Given the description of an element on the screen output the (x, y) to click on. 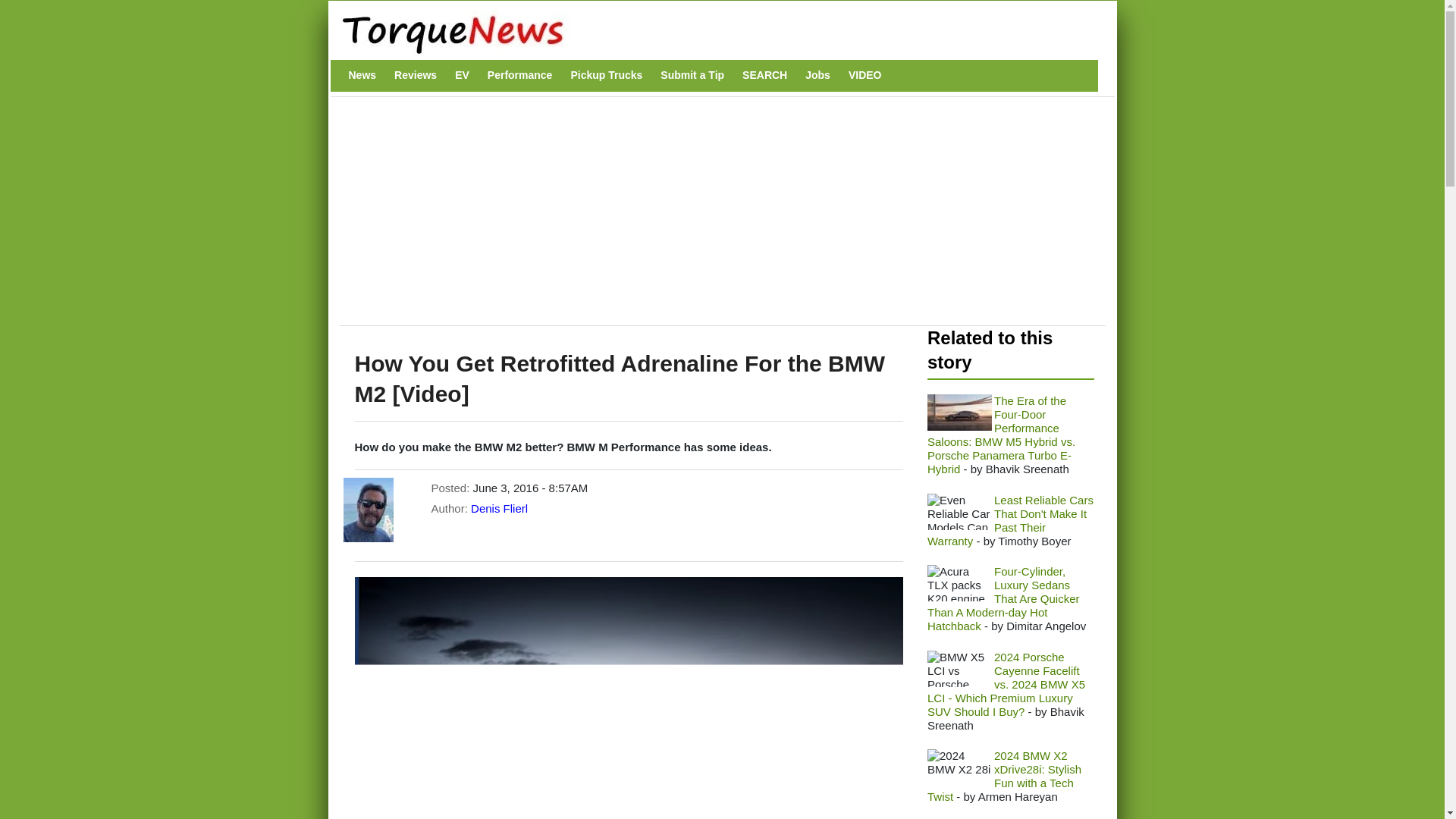
Denis Flierl (498, 508)
Porsche Panamera Turbo Hybrid vs. BMW M5 Hybrid - Comparison (959, 411)
Automotive journalism jobs and careers are TorqueNews.com. (817, 75)
Performance (520, 75)
Pickup Trucks (605, 75)
News (362, 75)
BMW X5 LCI vs Porsche Cayenne - Which one to buy? (959, 668)
News (362, 75)
Submit a Tip (691, 75)
Jobs (817, 75)
